Given the description of an element on the screen output the (x, y) to click on. 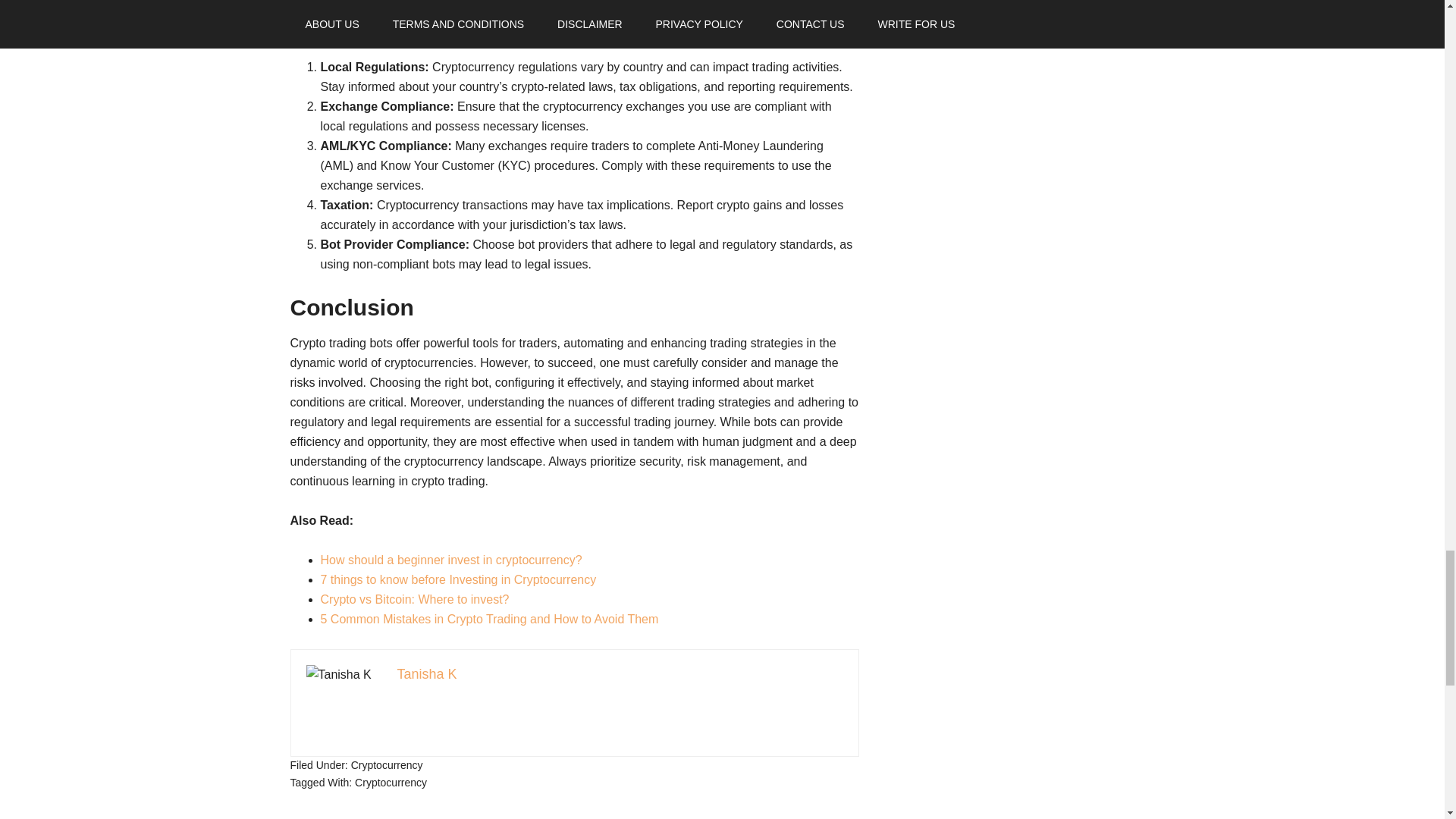
How should a beginner invest in cryptocurrency? (450, 559)
Tanisha K (427, 673)
Cryptocurrency (390, 782)
7 things to know before Investing in Cryptocurrency (457, 579)
5 Common Mistakes in Crypto Trading and How to Avoid Them (489, 618)
Cryptocurrency (386, 765)
Crypto vs Bitcoin: Where to invest? (414, 599)
